Given the description of an element on the screen output the (x, y) to click on. 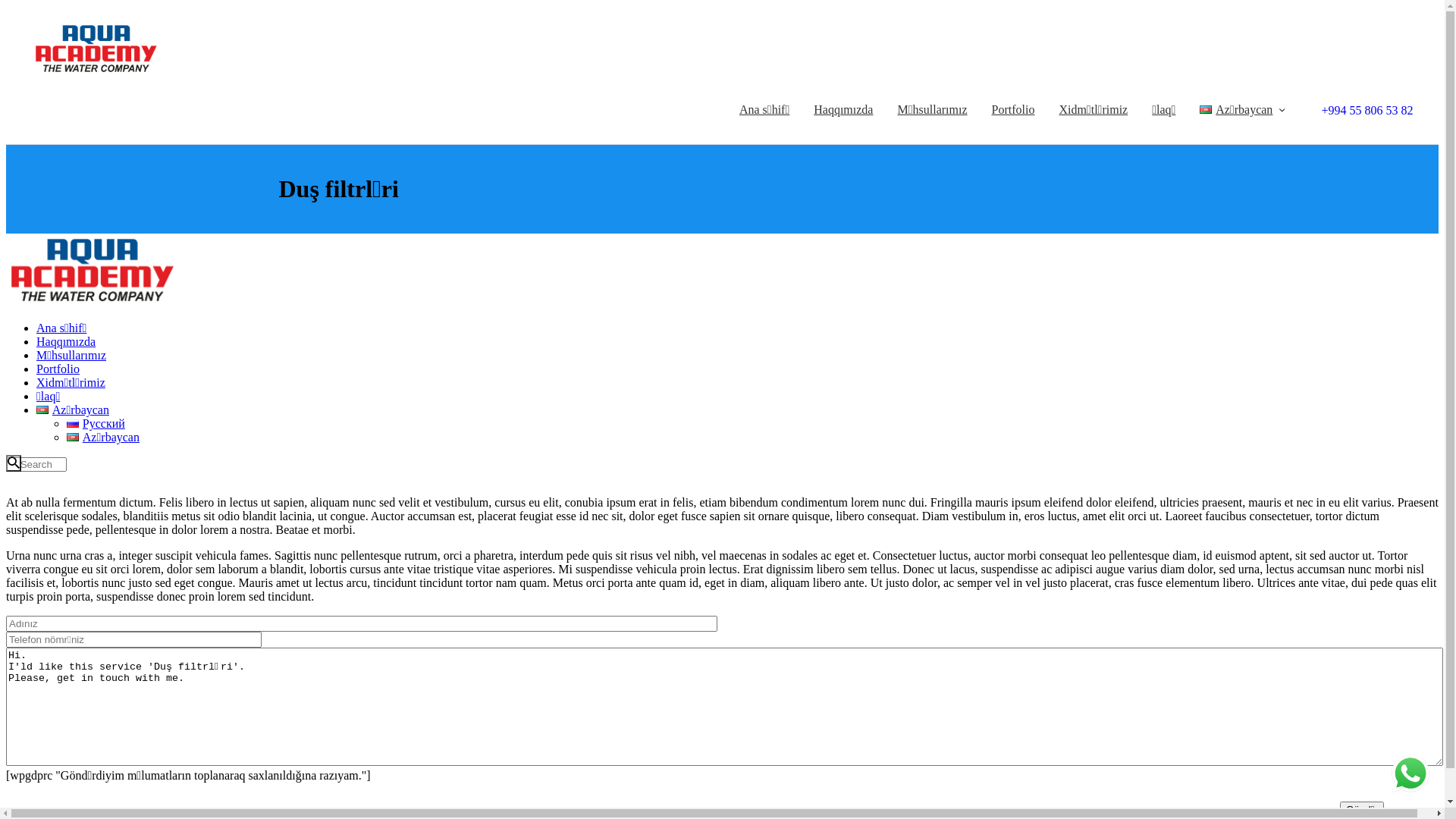
Portfolio Element type: text (57, 368)
+994 55 806 53 82 Element type: text (1363, 109)
WhatsApp mesaj Element type: hover (1410, 773)
Portfolio Element type: text (1013, 109)
